Given the description of an element on the screen output the (x, y) to click on. 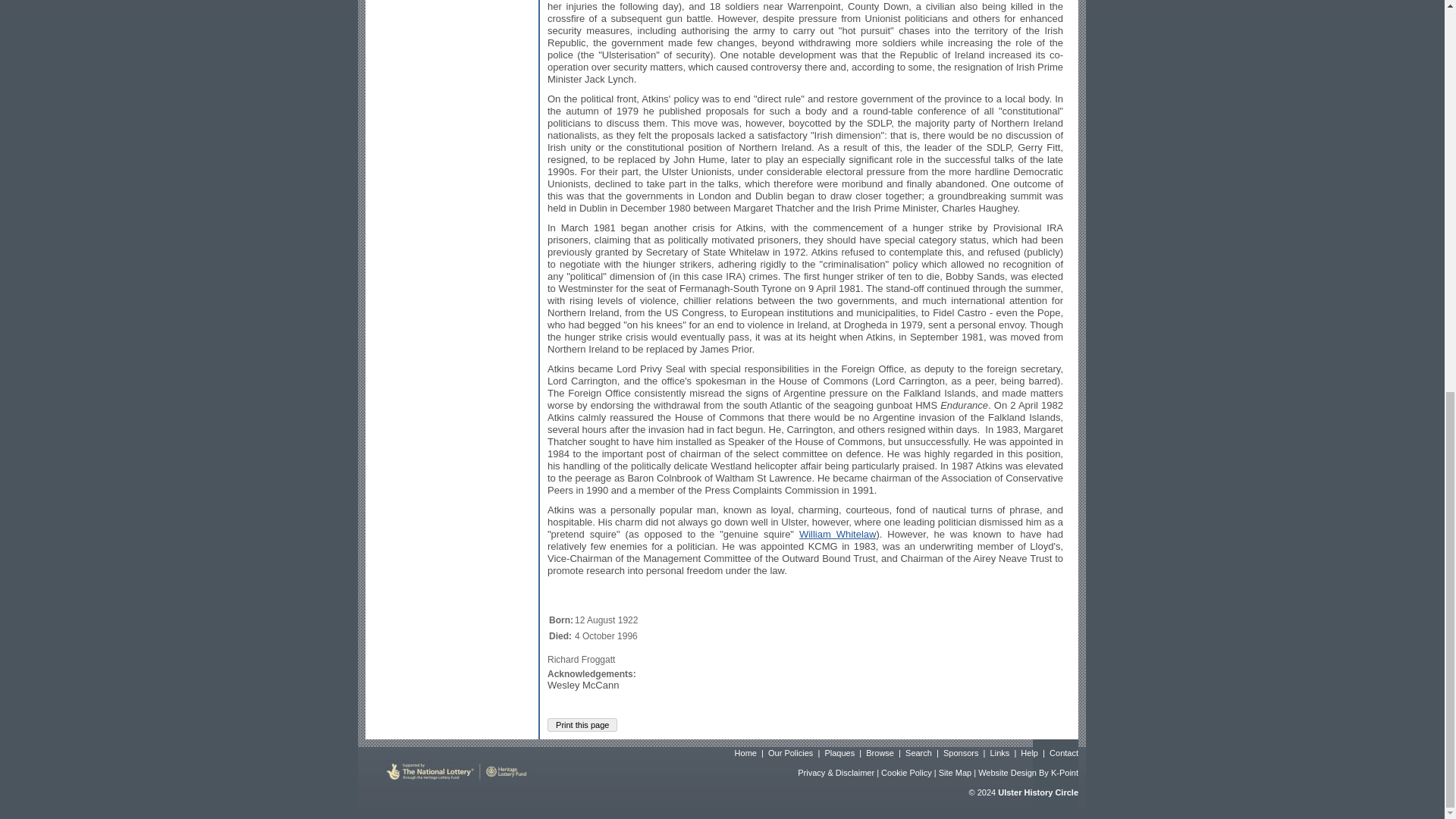
 Print this page  (582, 725)
Home (746, 752)
William Whitelaw (837, 533)
